Given the description of an element on the screen output the (x, y) to click on. 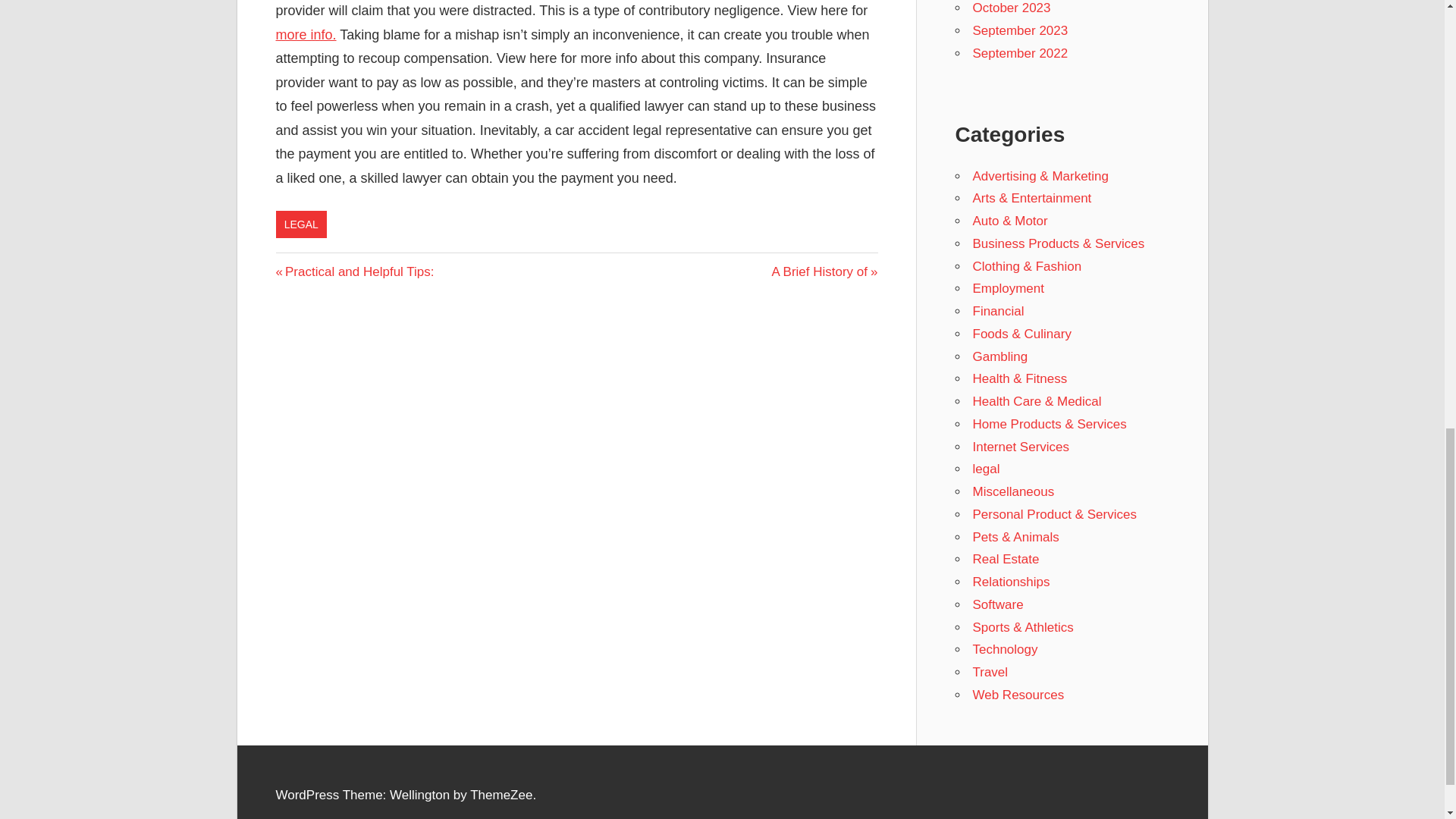
October 2023 (1010, 7)
Employment (1007, 288)
more info. (306, 34)
Gambling (354, 271)
September 2022 (999, 356)
LEGAL (1019, 52)
September 2023 (301, 224)
Financial (1019, 30)
